Given the description of an element on the screen output the (x, y) to click on. 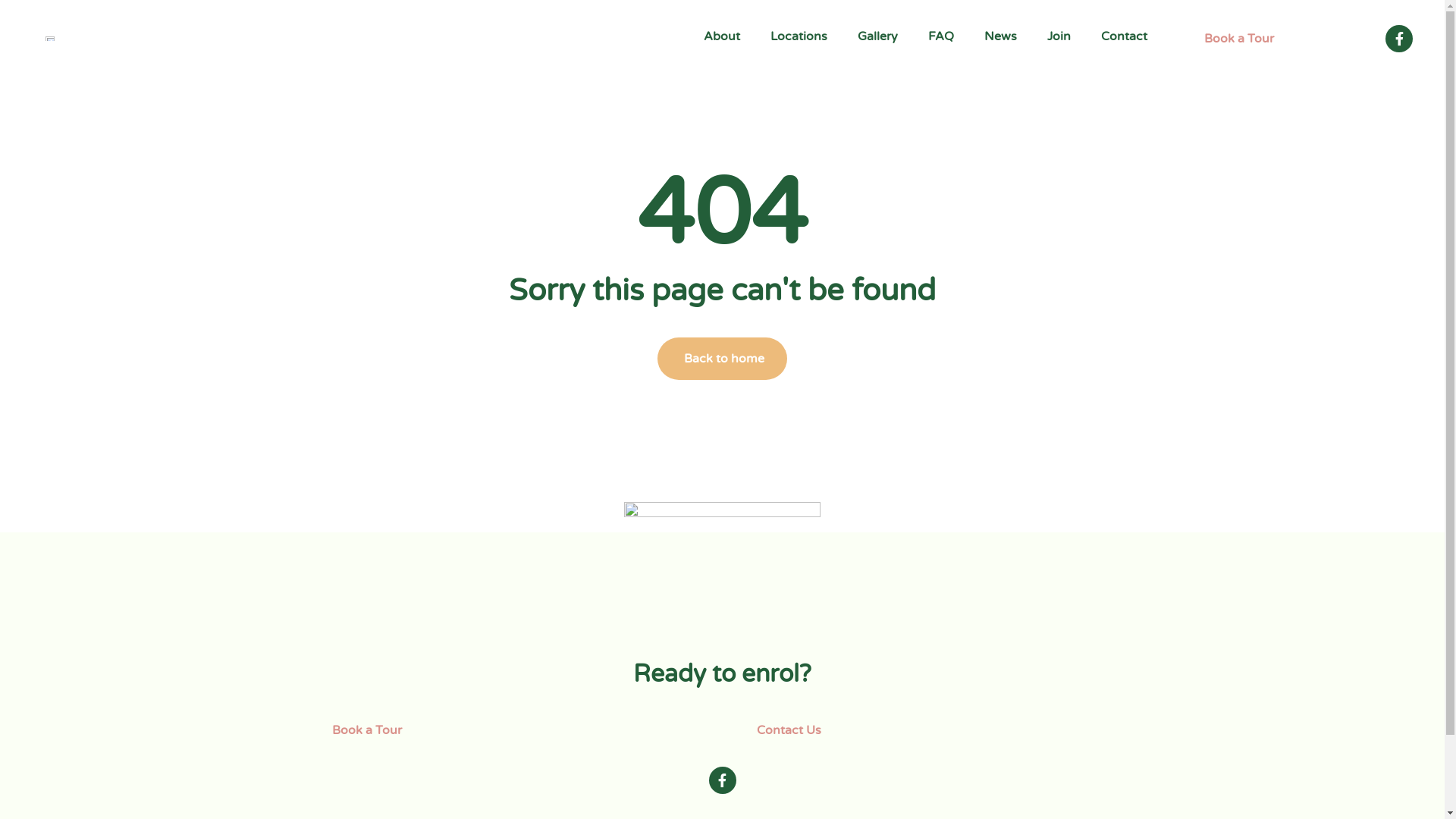
Book a Tour Element type: text (1235, 37)
Locations Element type: text (798, 35)
Contact Element type: text (1123, 35)
Book a Tour Element type: text (363, 730)
About Element type: text (721, 35)
Back to home Element type: text (722, 358)
Contact Us Element type: text (786, 730)
News Element type: text (1000, 35)
FAQ Element type: text (941, 35)
Gallery Element type: text (876, 35)
Join Element type: text (1058, 35)
